Given the description of an element on the screen output the (x, y) to click on. 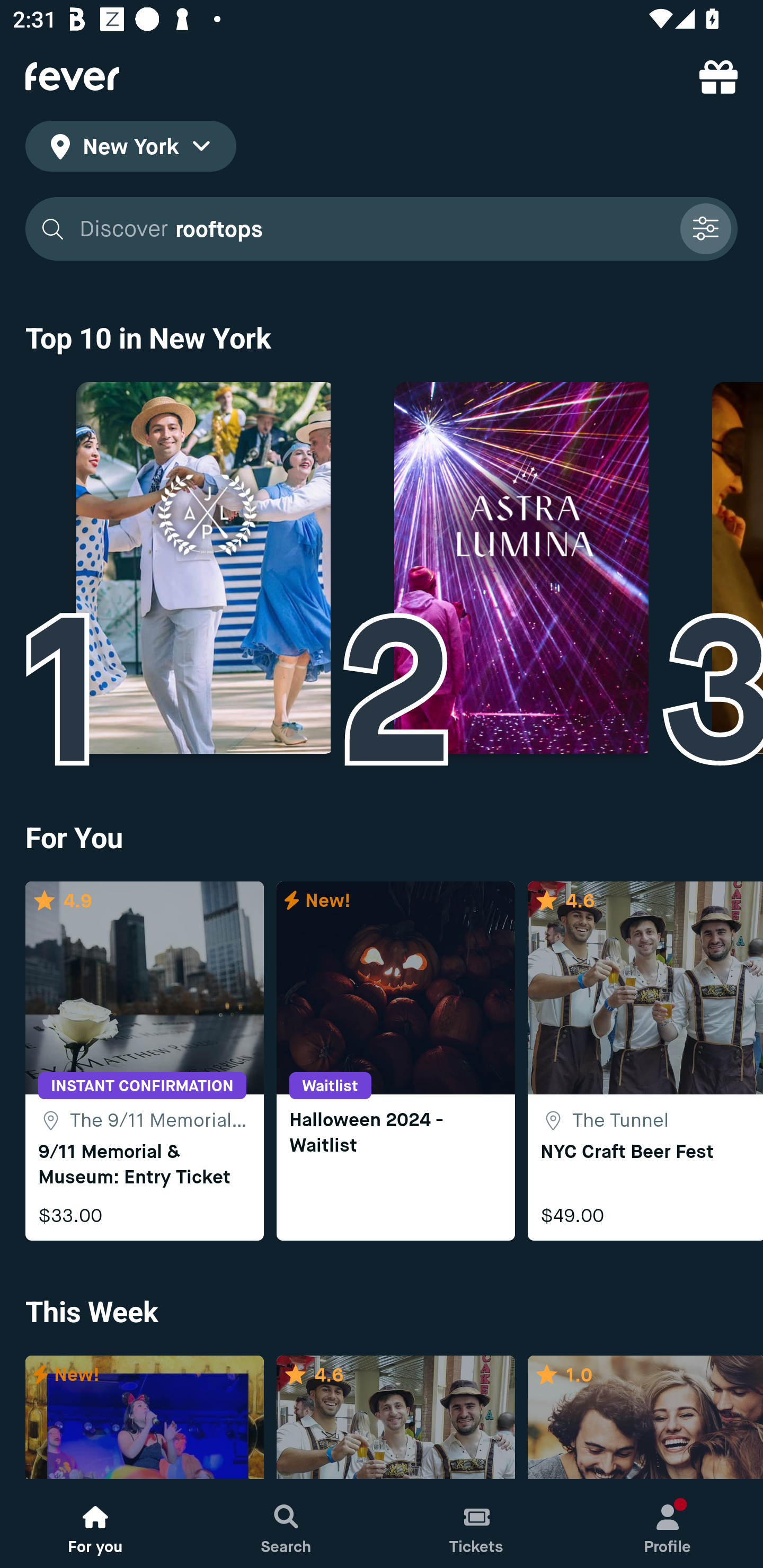
referral (718, 75)
location icon New York location icon (130, 149)
Discover rooftops (381, 228)
Discover rooftops (373, 228)
cover image New! label New! (144, 1417)
cover image 50.0 4.6 (395, 1417)
cover image 50.0 1.0 (645, 1417)
Search (285, 1523)
Tickets (476, 1523)
Profile, New notification Profile (667, 1523)
